Given the description of an element on the screen output the (x, y) to click on. 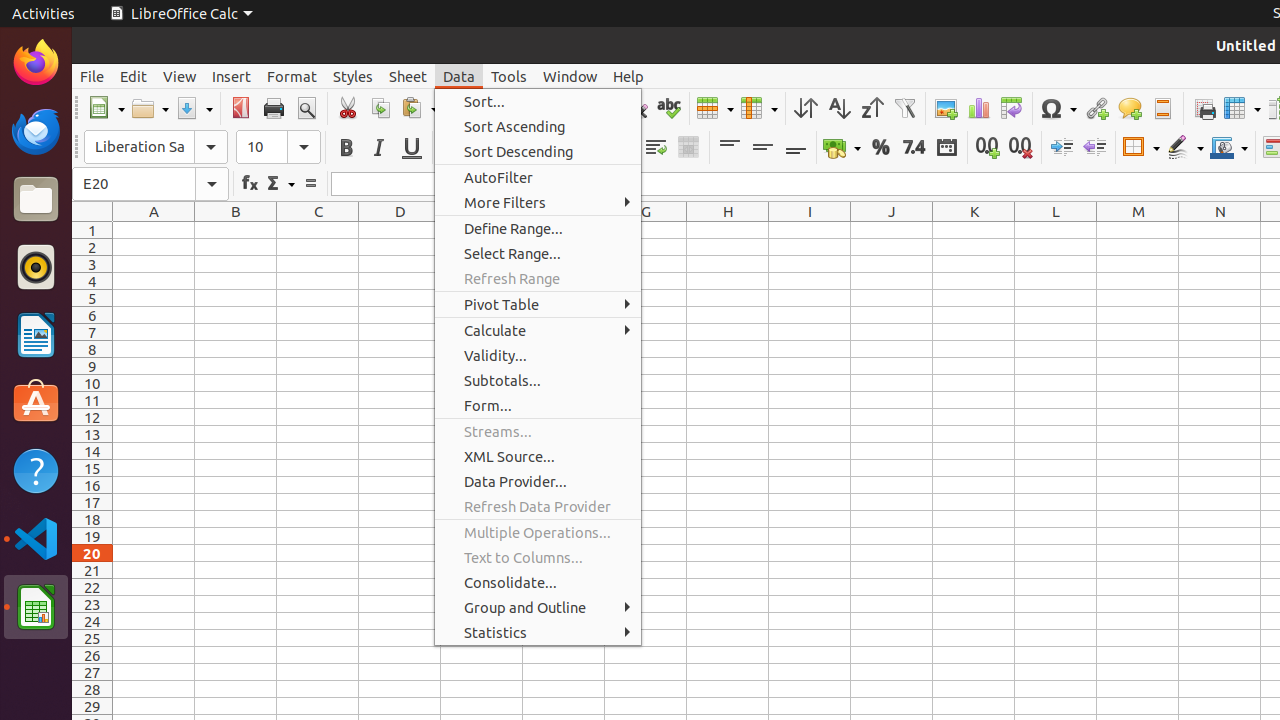
Group and Outline Element type: menu (538, 607)
Select Range... Element type: menu-item (538, 253)
Ubuntu Software Element type: push-button (36, 402)
Symbol Element type: push-button (1058, 108)
L1 Element type: table-cell (1056, 230)
